Given the description of an element on the screen output the (x, y) to click on. 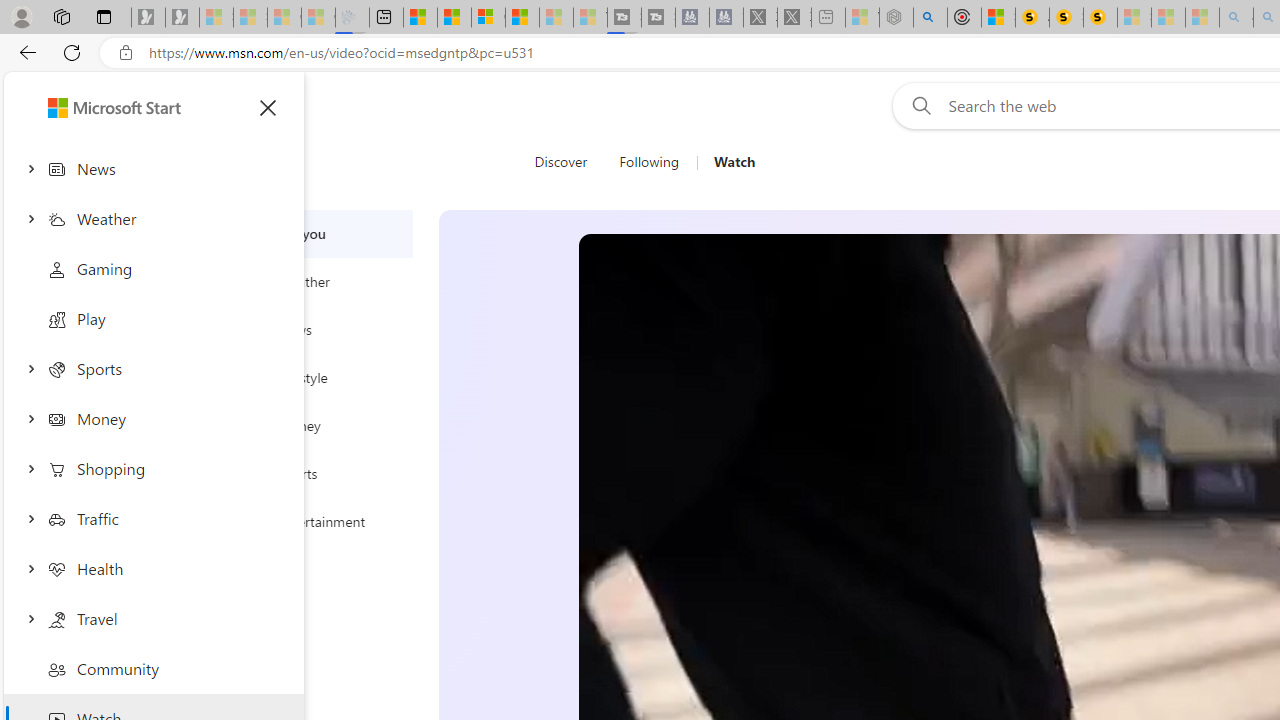
Overview (488, 17)
Class: button-glyph (267, 107)
Michelle Starr, Senior Journalist at ScienceAlert (1100, 17)
Newsletter Sign Up - Sleeping (182, 17)
Web search (917, 105)
